Given the description of an element on the screen output the (x, y) to click on. 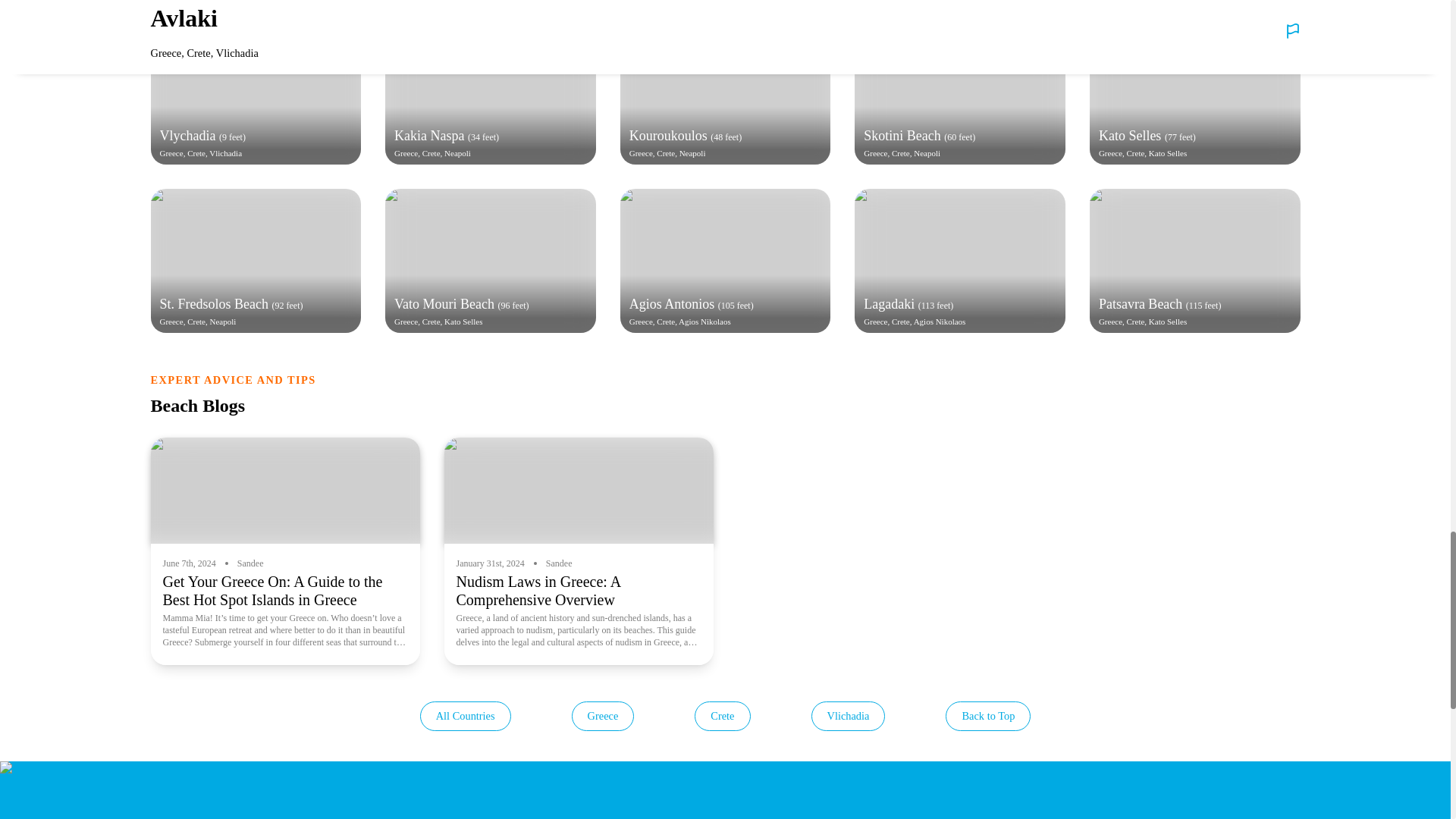
All Countries (465, 716)
Crete (721, 716)
Greece (603, 716)
